Given the description of an element on the screen output the (x, y) to click on. 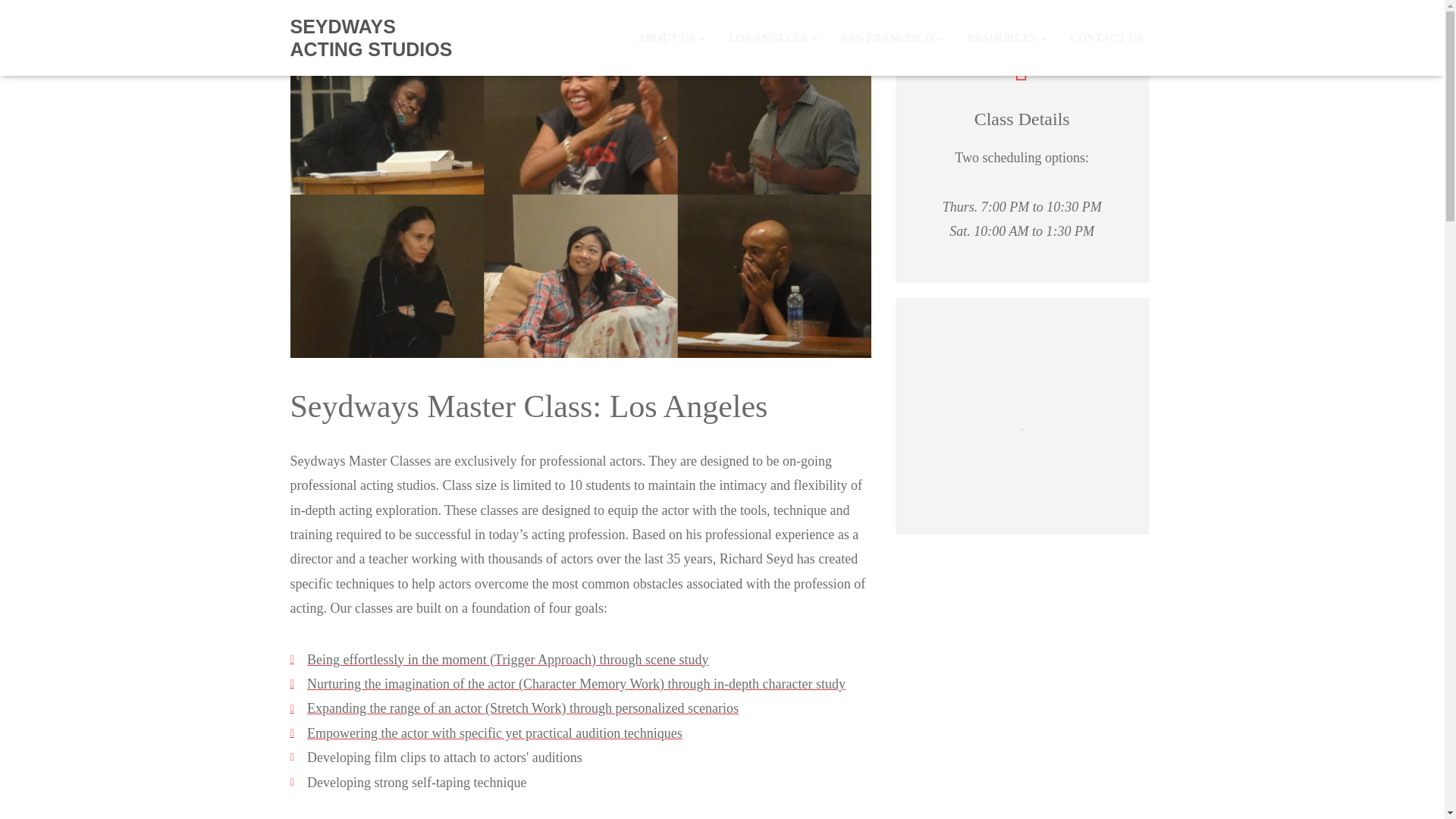
SEYDWAYS ACTING STUDIOS (379, 37)
About Us (671, 37)
CONTACT US (1106, 37)
Seydways Acting Studios (379, 37)
LOS ANGELES (772, 37)
Los Angeles (772, 37)
ABOUT US (671, 37)
SAN FRANCISCO (892, 37)
RESOURCES (1006, 37)
